Given the description of an element on the screen output the (x, y) to click on. 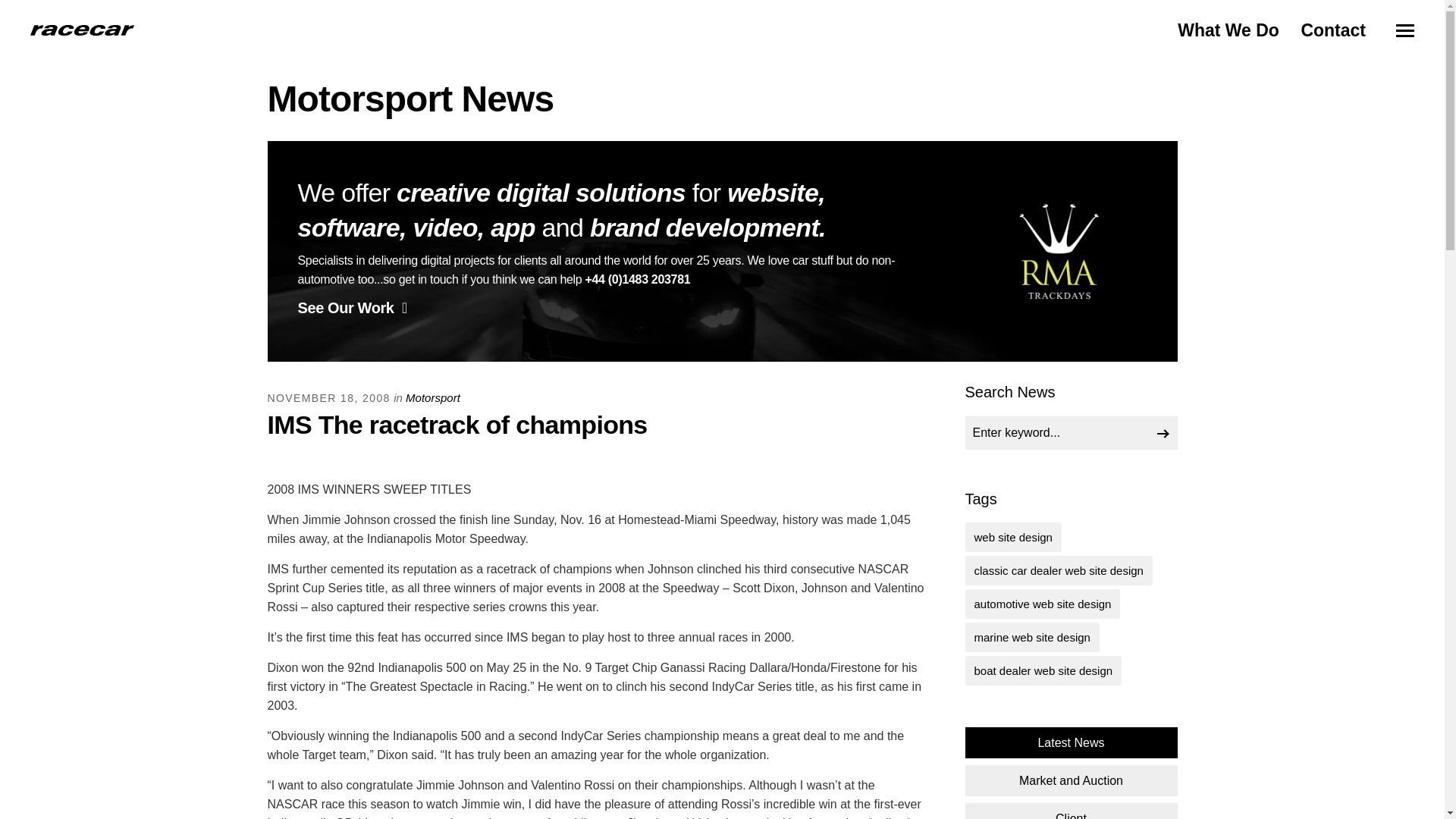
See Our Work   (351, 307)
What We Do (1228, 30)
Contact (1332, 30)
